Given the description of an element on the screen output the (x, y) to click on. 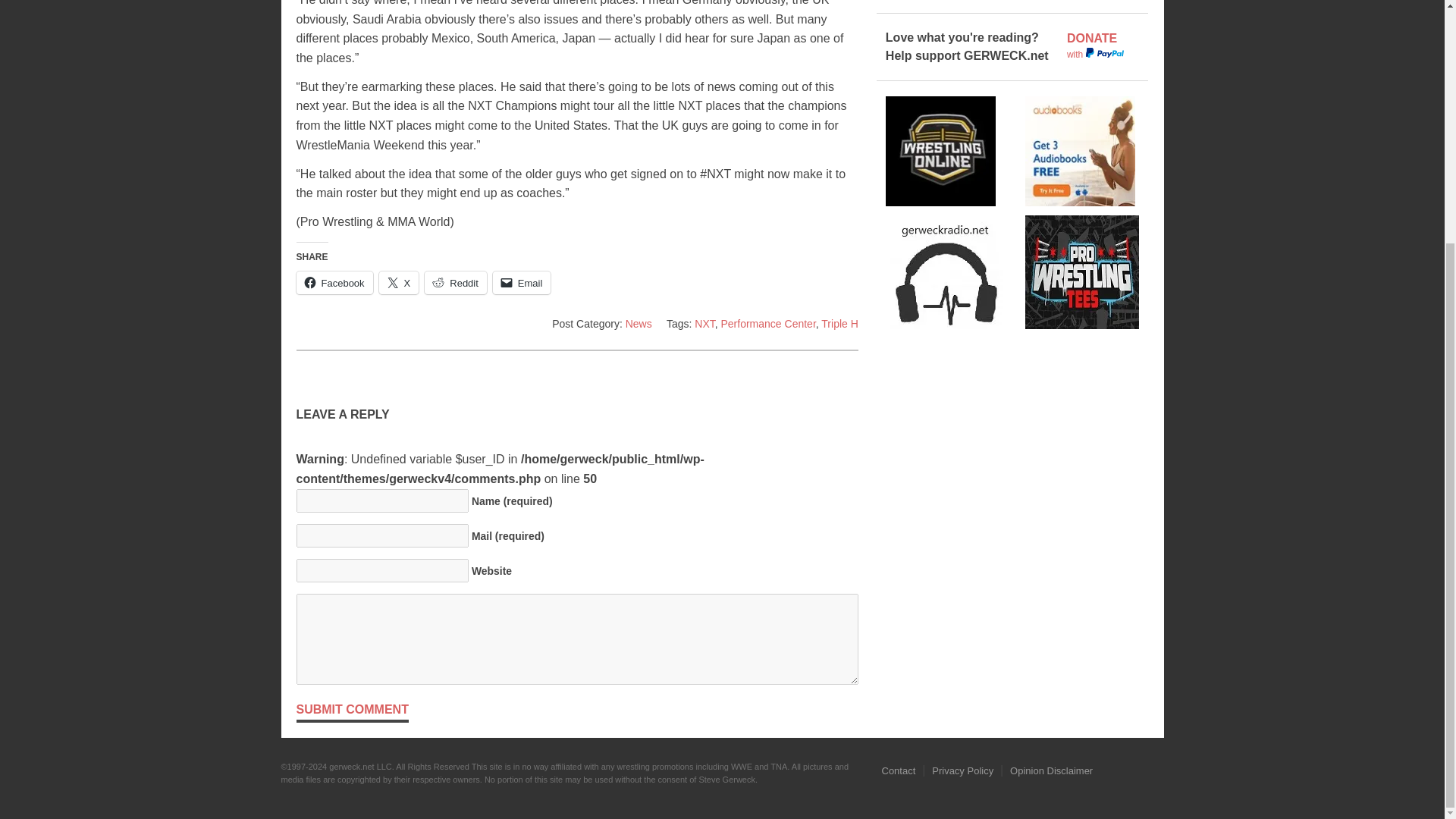
Click to email a link to a friend (522, 282)
Click to share on X (398, 282)
Submit Comment (351, 711)
Click to share on Reddit (455, 282)
Click to share on Facebook (333, 282)
